Given the description of an element on the screen output the (x, y) to click on. 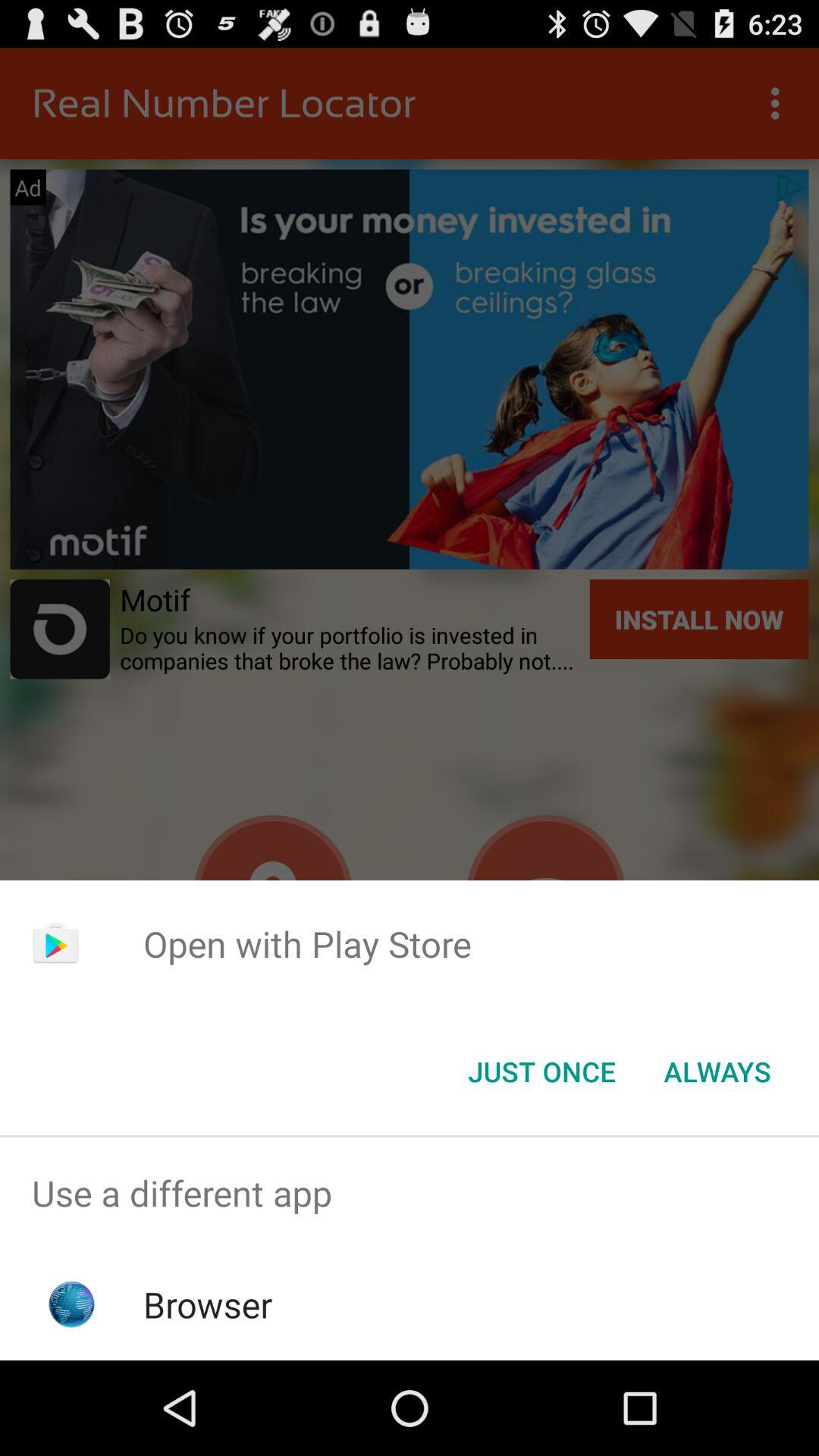
flip to the browser (207, 1304)
